Given the description of an element on the screen output the (x, y) to click on. 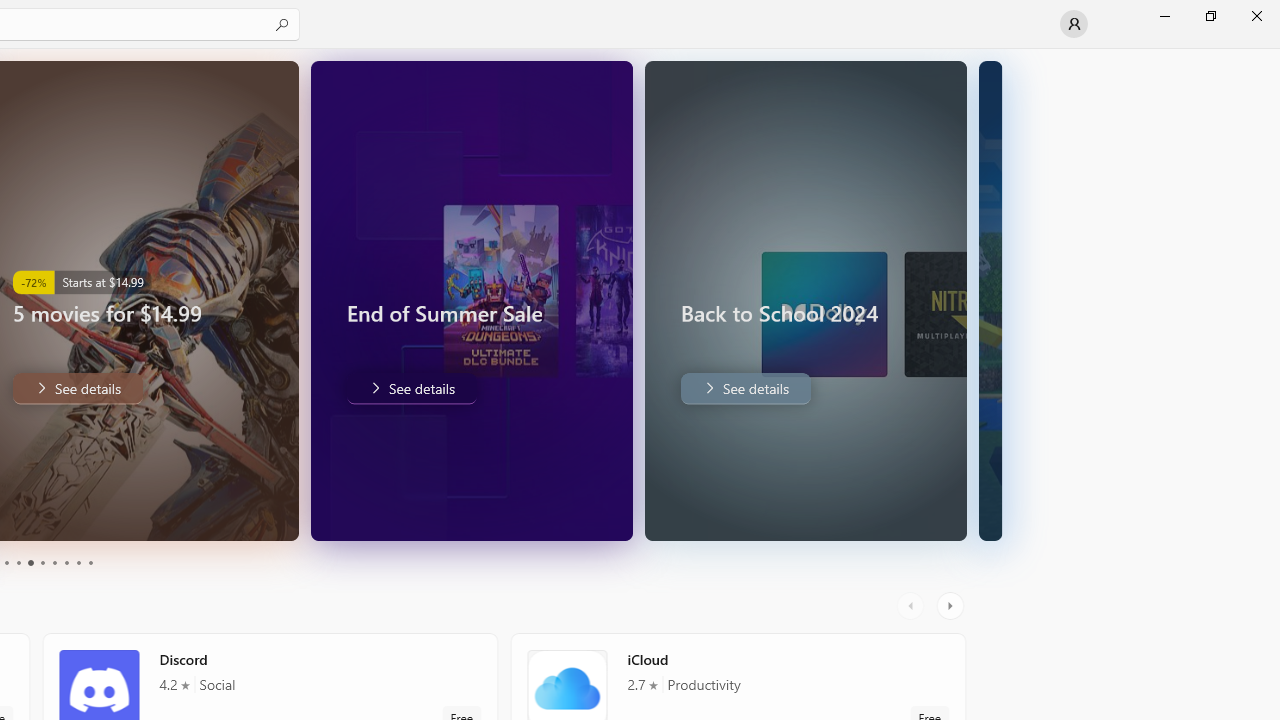
AutomationID: Image (839, 300)
Page 6 (41, 562)
